Given the description of an element on the screen output the (x, y) to click on. 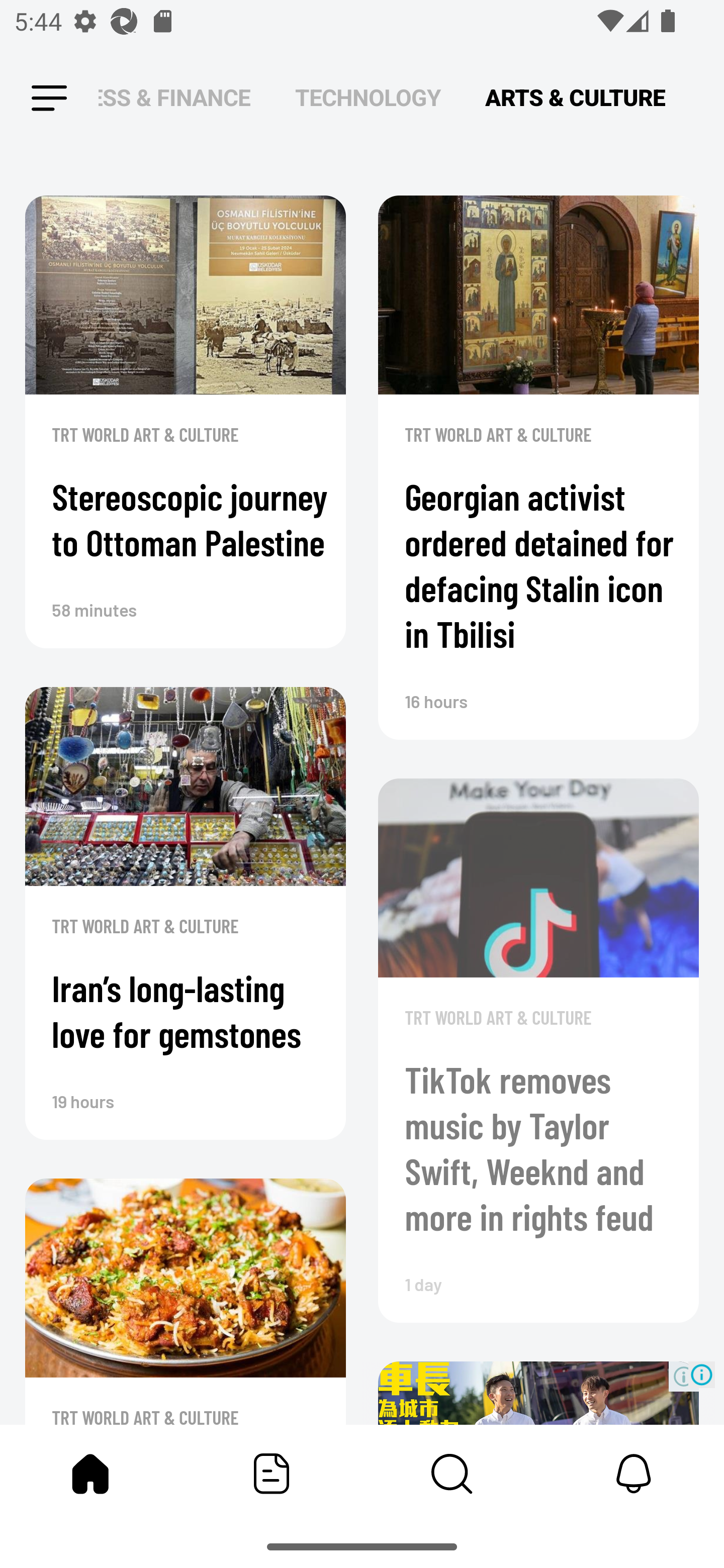
Leading Icon (49, 98)
BUSINESS & FINANCE (174, 97)
TECHNOLOGY (367, 97)
Ad Choices Icon (701, 1374)
Featured (271, 1473)
Content Store (452, 1473)
Notifications (633, 1473)
